Given the description of an element on the screen output the (x, y) to click on. 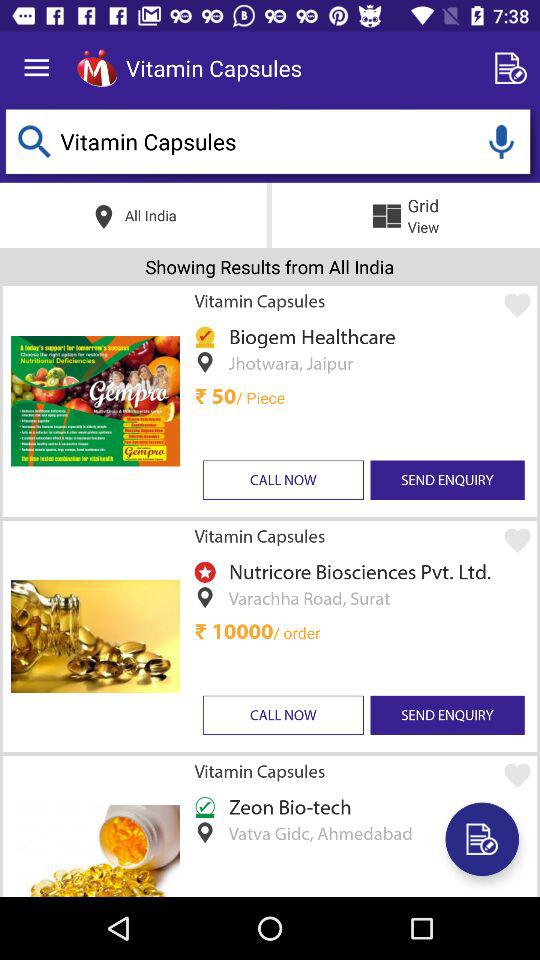
voice search option (501, 141)
